Given the description of an element on the screen output the (x, y) to click on. 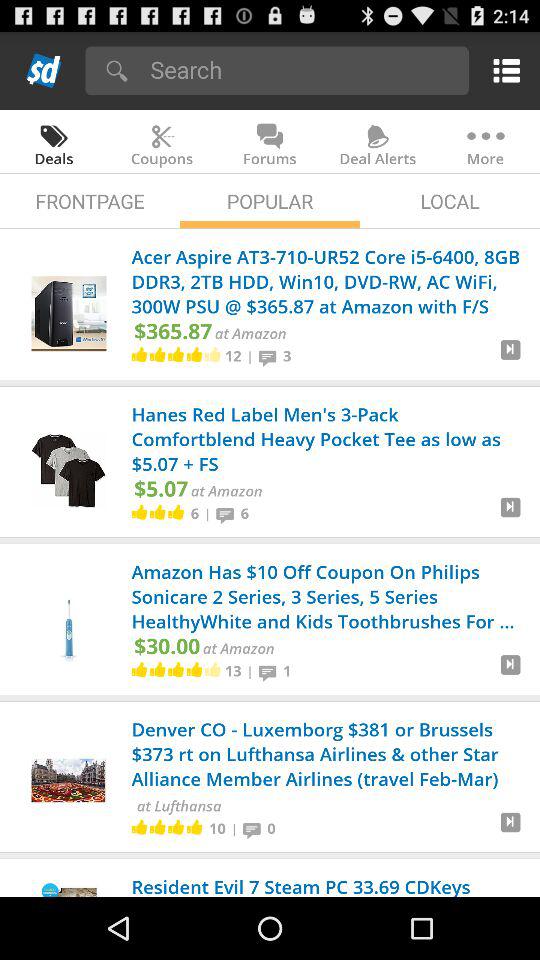
tap icon next to | app (228, 513)
